Given the description of an element on the screen output the (x, y) to click on. 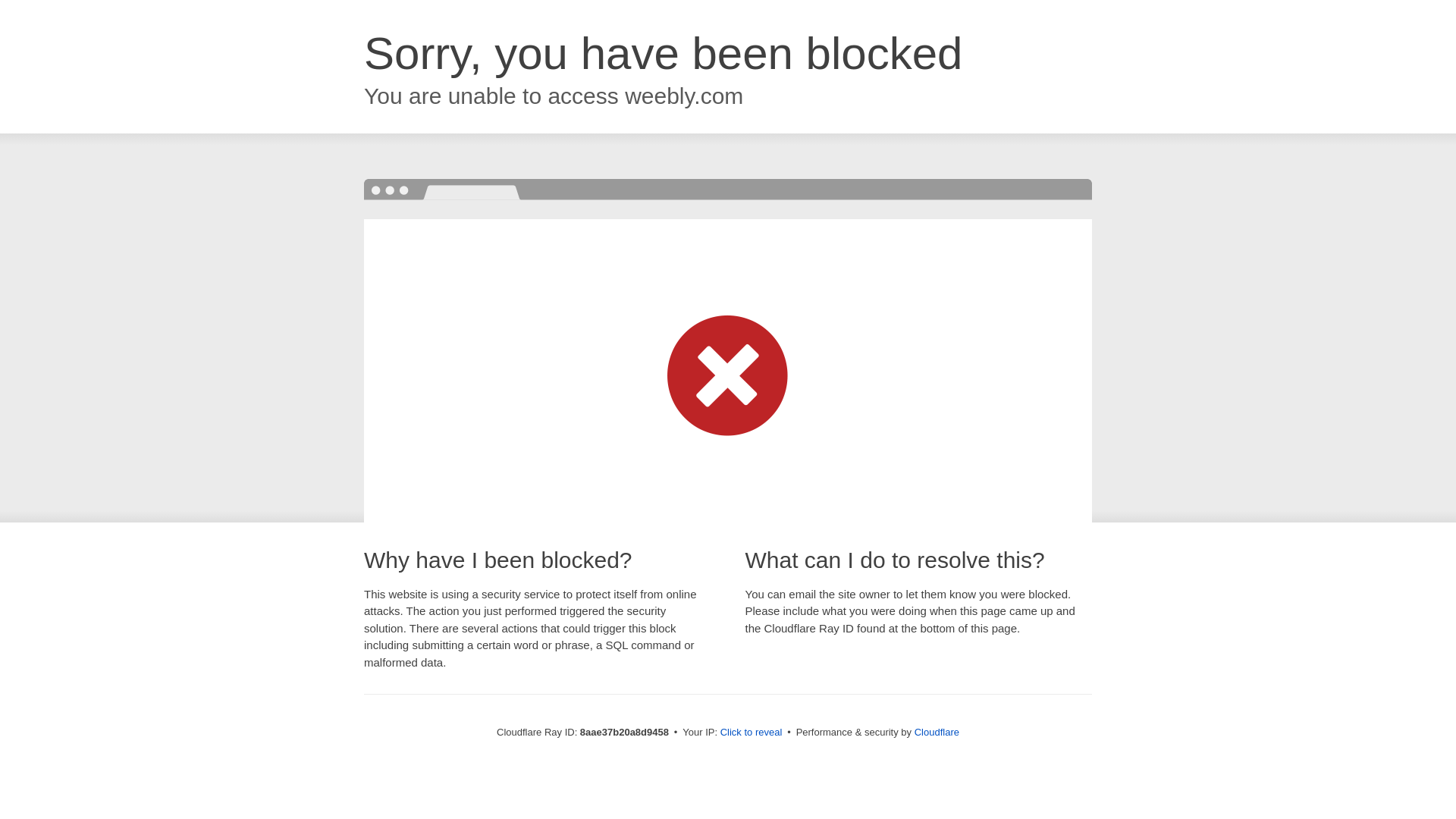
Cloudflare (936, 731)
Click to reveal (751, 732)
